Given the description of an element on the screen output the (x, y) to click on. 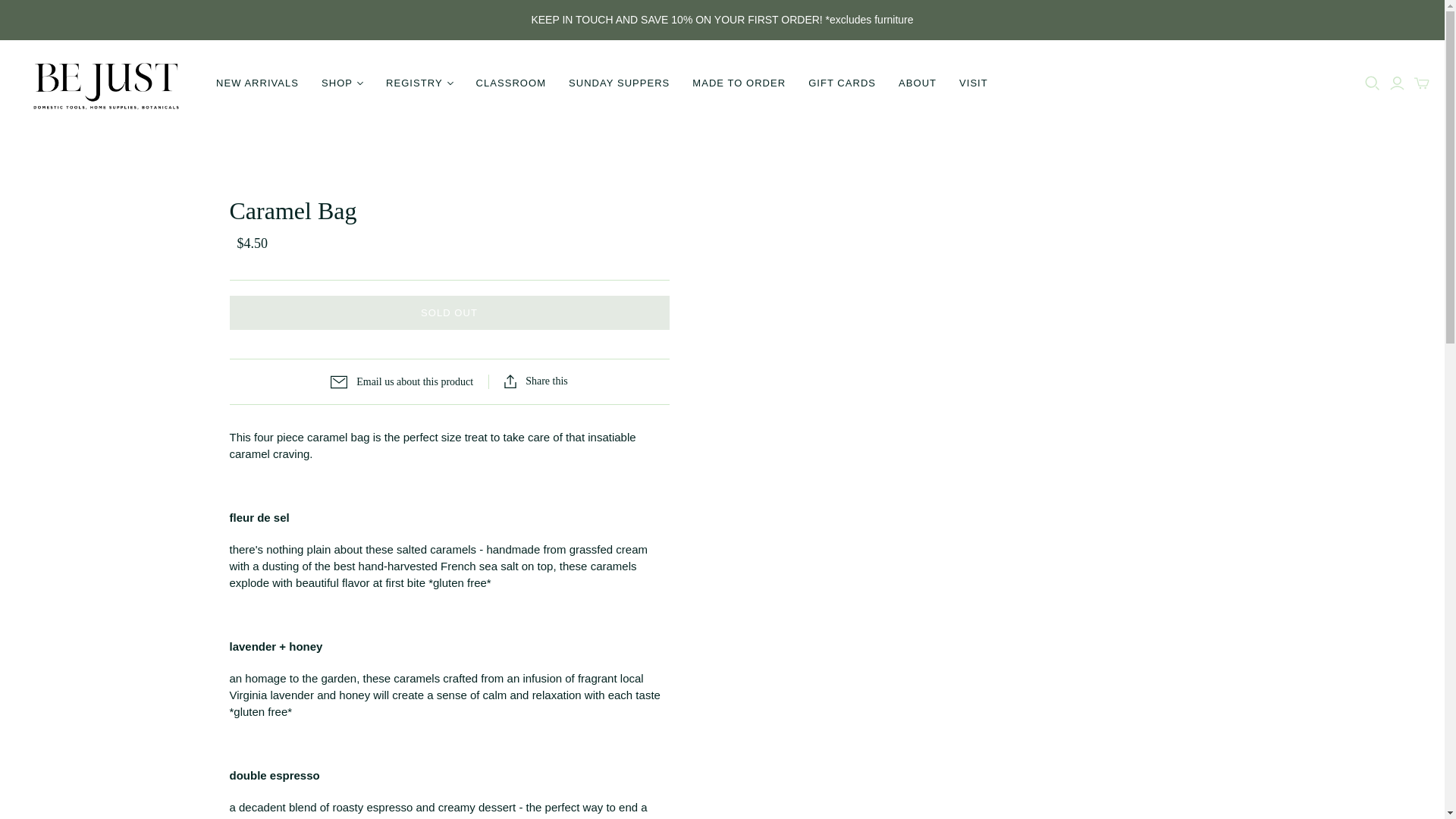
SUNDAY SUPPERS (619, 83)
VISIT (972, 83)
REGISTRY (419, 83)
GIFT CARDS (841, 83)
CLASSROOM (510, 83)
ABOUT (916, 83)
MADE TO ORDER (738, 83)
SHOP (342, 83)
NEW ARRIVALS (257, 83)
